Given the description of an element on the screen output the (x, y) to click on. 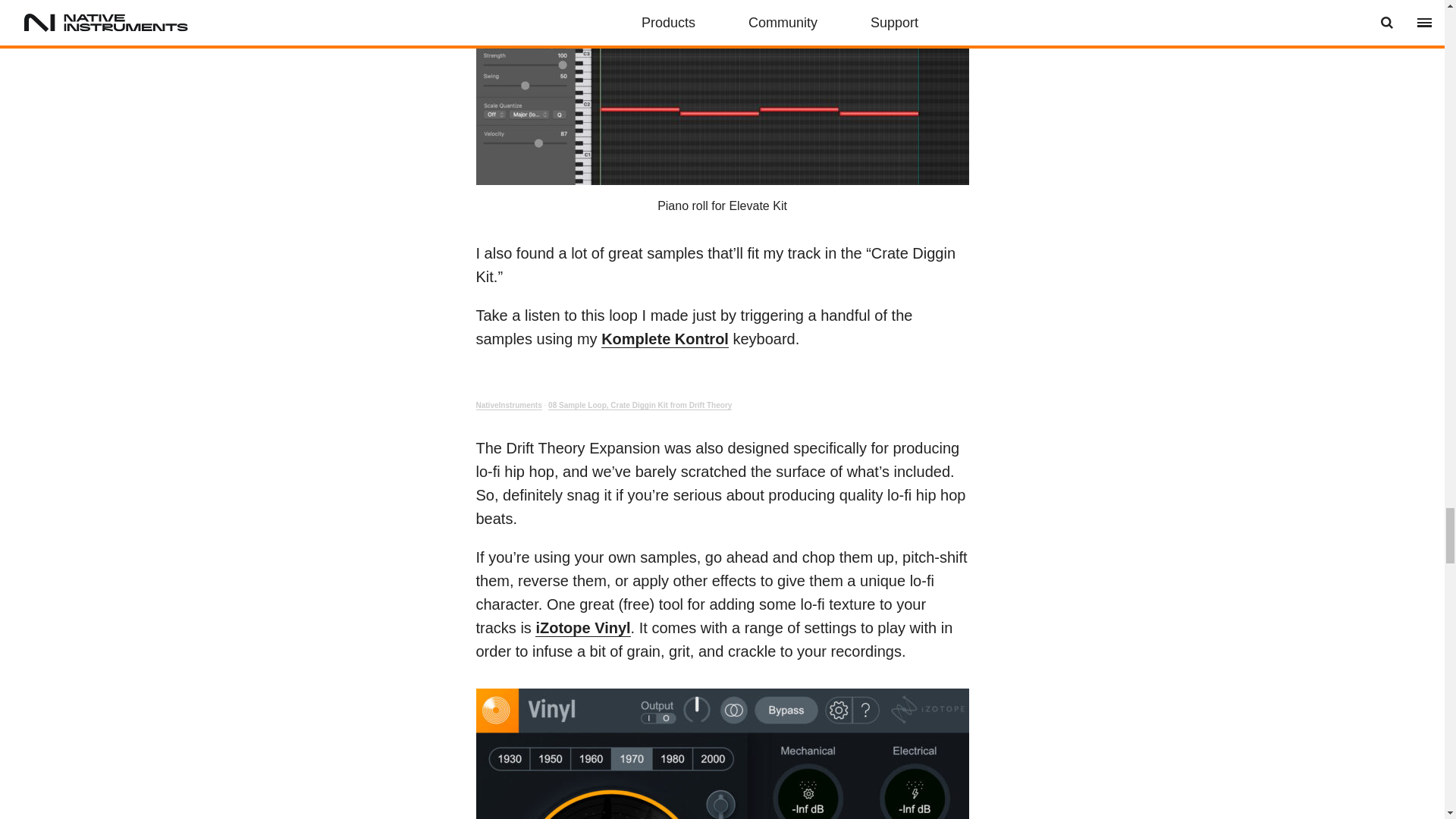
NativeInstruments (508, 405)
08 Sample Loop, Crate Diggin Kit from Drift Theory (640, 405)
